Given the description of an element on the screen output the (x, y) to click on. 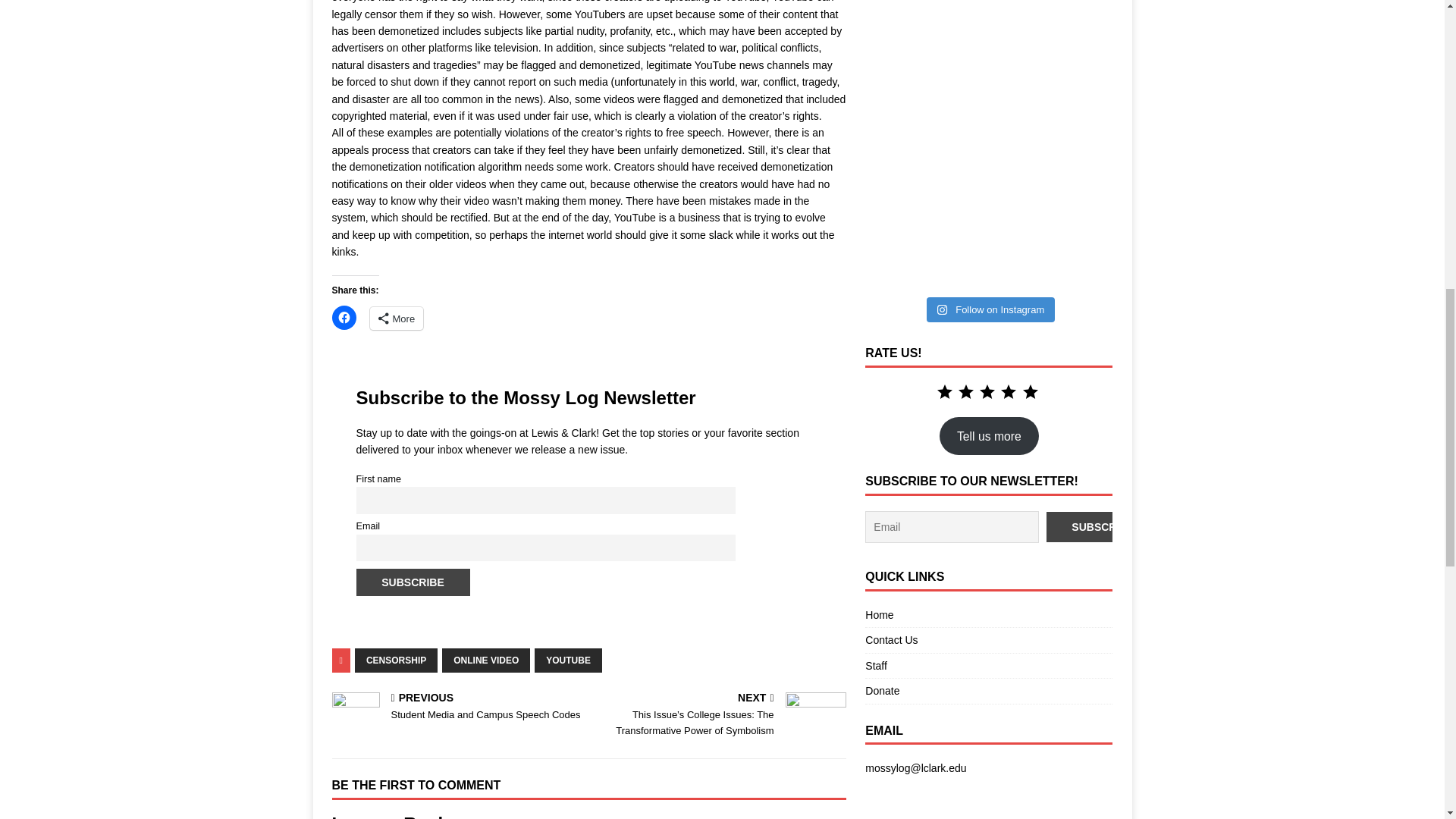
More (396, 318)
ONLINE VIDEO (485, 660)
CENSORSHIP (396, 660)
Click to share on Facebook (343, 317)
YOUTUBE (568, 660)
Subscribe (1103, 526)
Subscribe (457, 707)
Subscribe (413, 582)
